Given the description of an element on the screen output the (x, y) to click on. 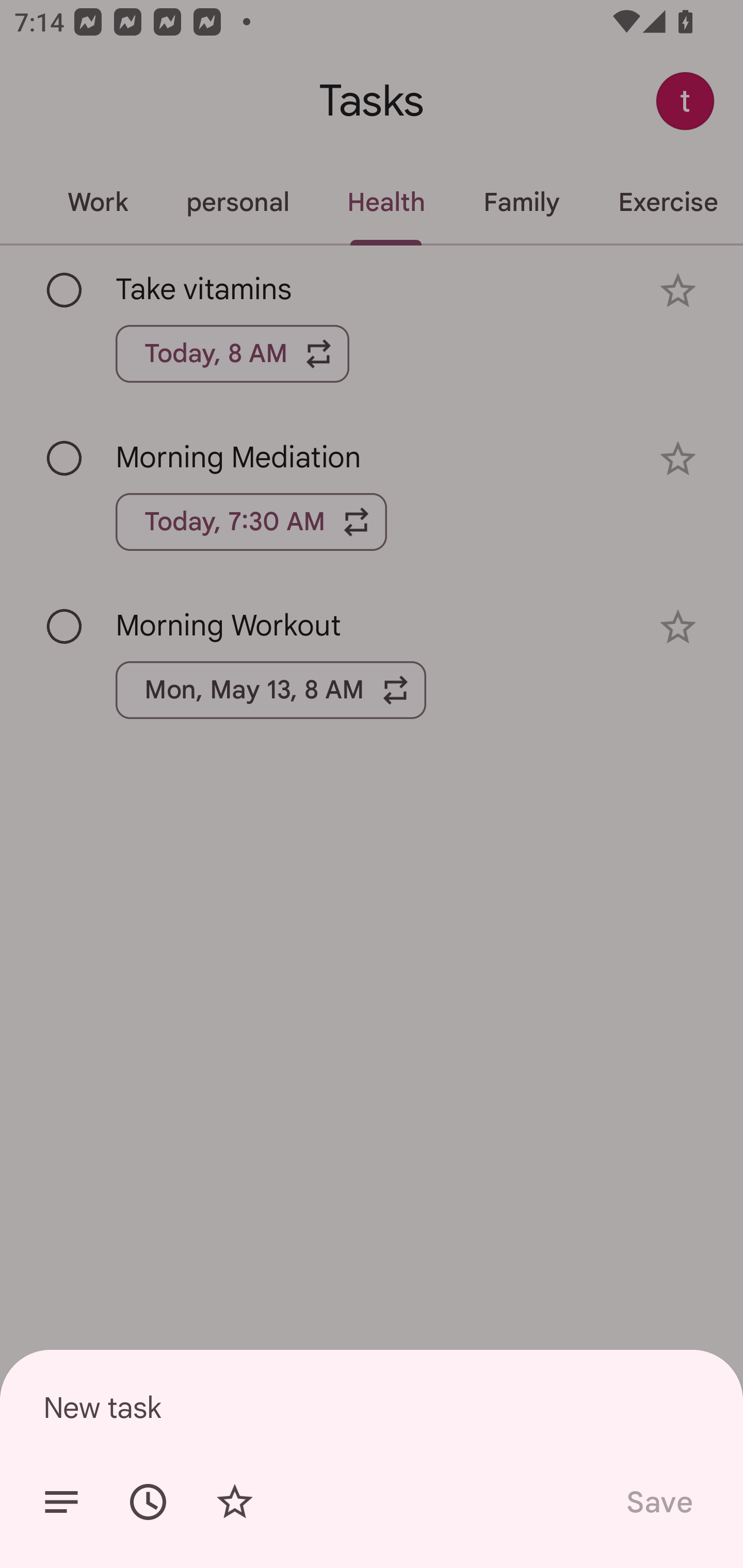
New task (371, 1407)
Save (659, 1501)
Add details (60, 1501)
Set date/time (147, 1501)
Add star (234, 1501)
